Given the description of an element on the screen output the (x, y) to click on. 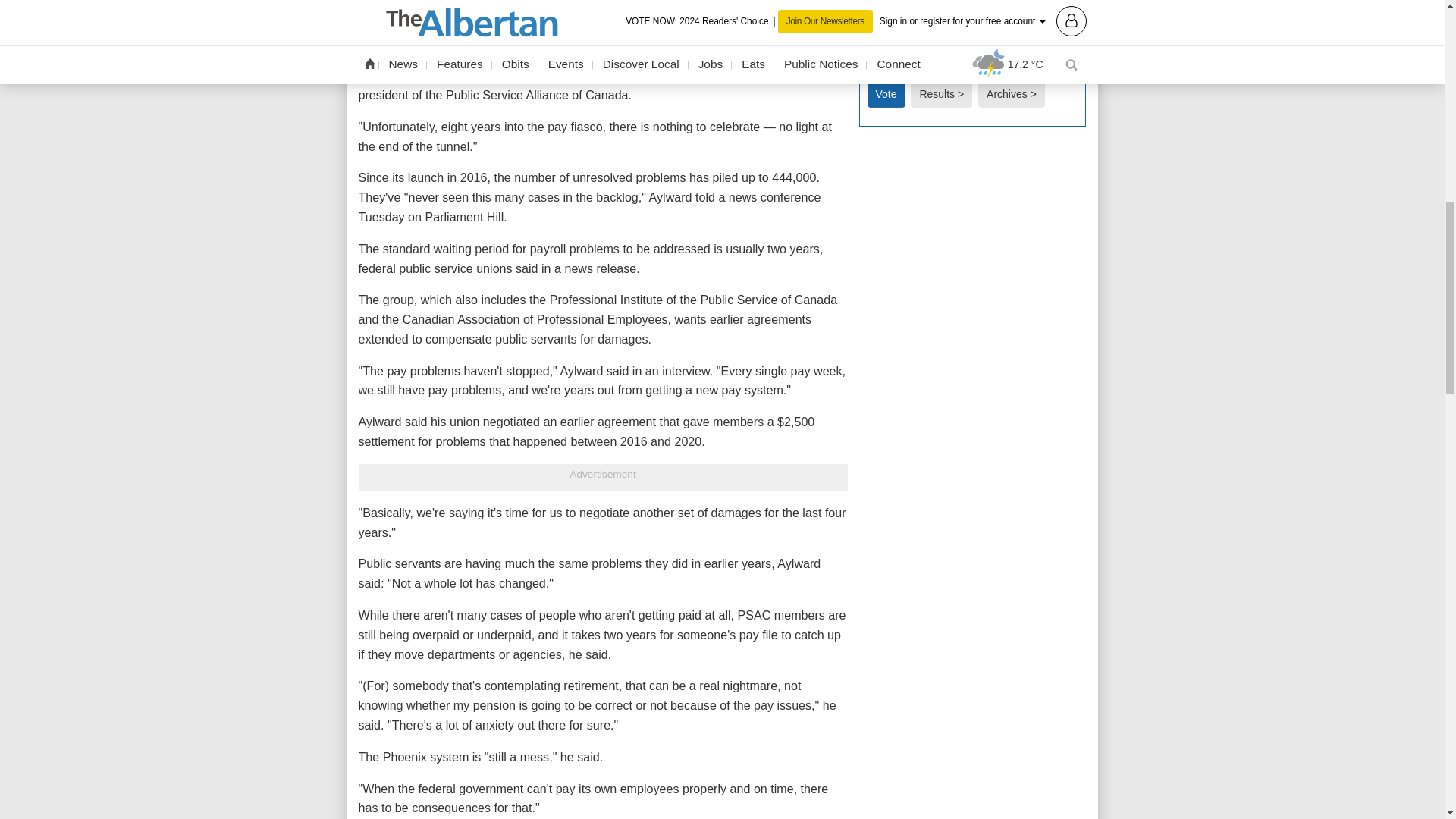
123347 (872, 19)
123348 (872, 40)
123349 (872, 61)
